Given the description of an element on the screen output the (x, y) to click on. 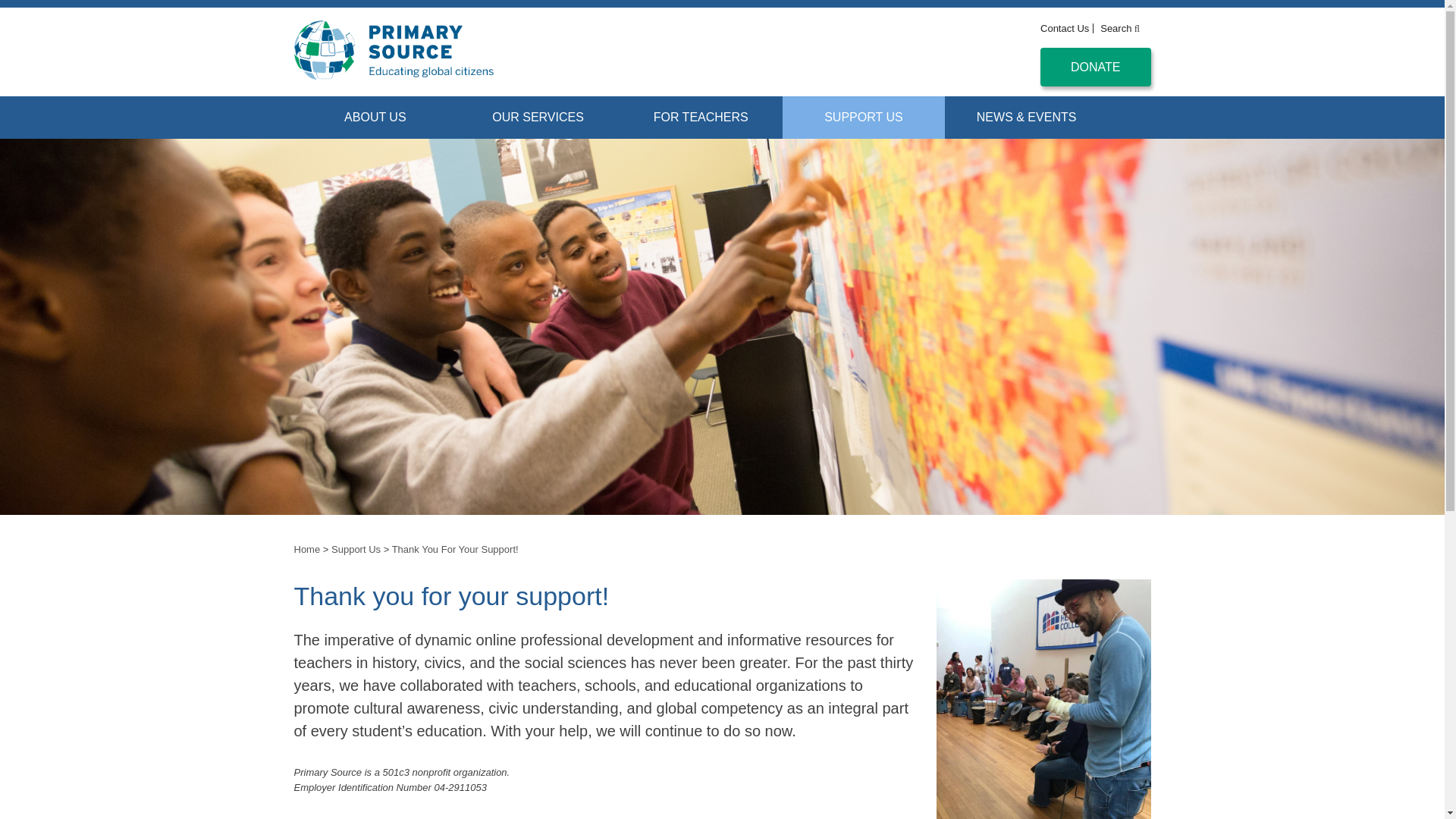
ABOUT US (375, 117)
Primary Source (330, 98)
Contact Us (1065, 28)
DONATE (1095, 66)
Search (1115, 28)
FOR TEACHERS (701, 117)
OUR SERVICES (538, 117)
